Given the description of an element on the screen output the (x, y) to click on. 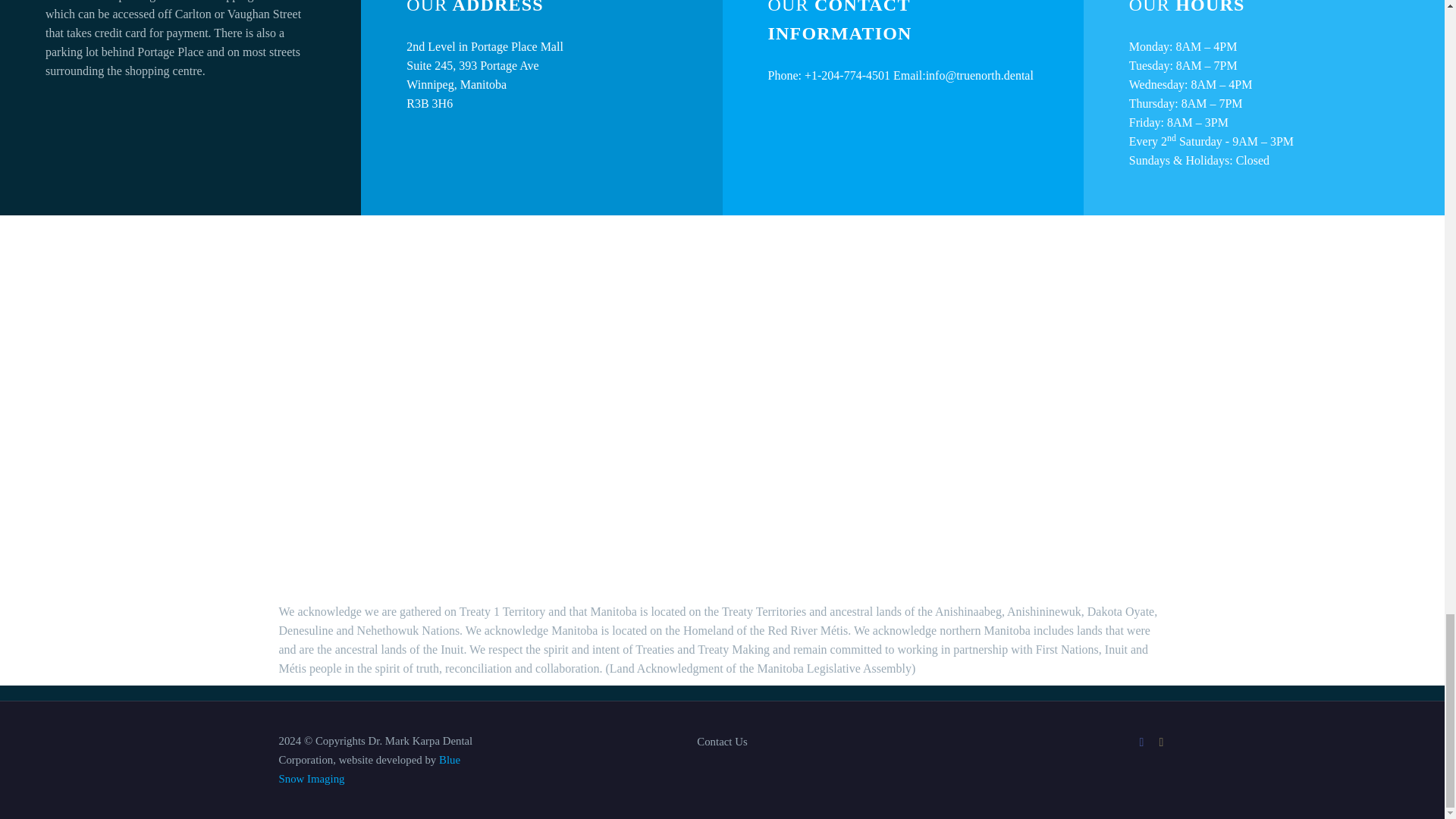
Contact Us (721, 741)
Instagram (1161, 742)
Facebook (1141, 742)
Blue Snow Imaging (370, 768)
